Given the description of an element on the screen output the (x, y) to click on. 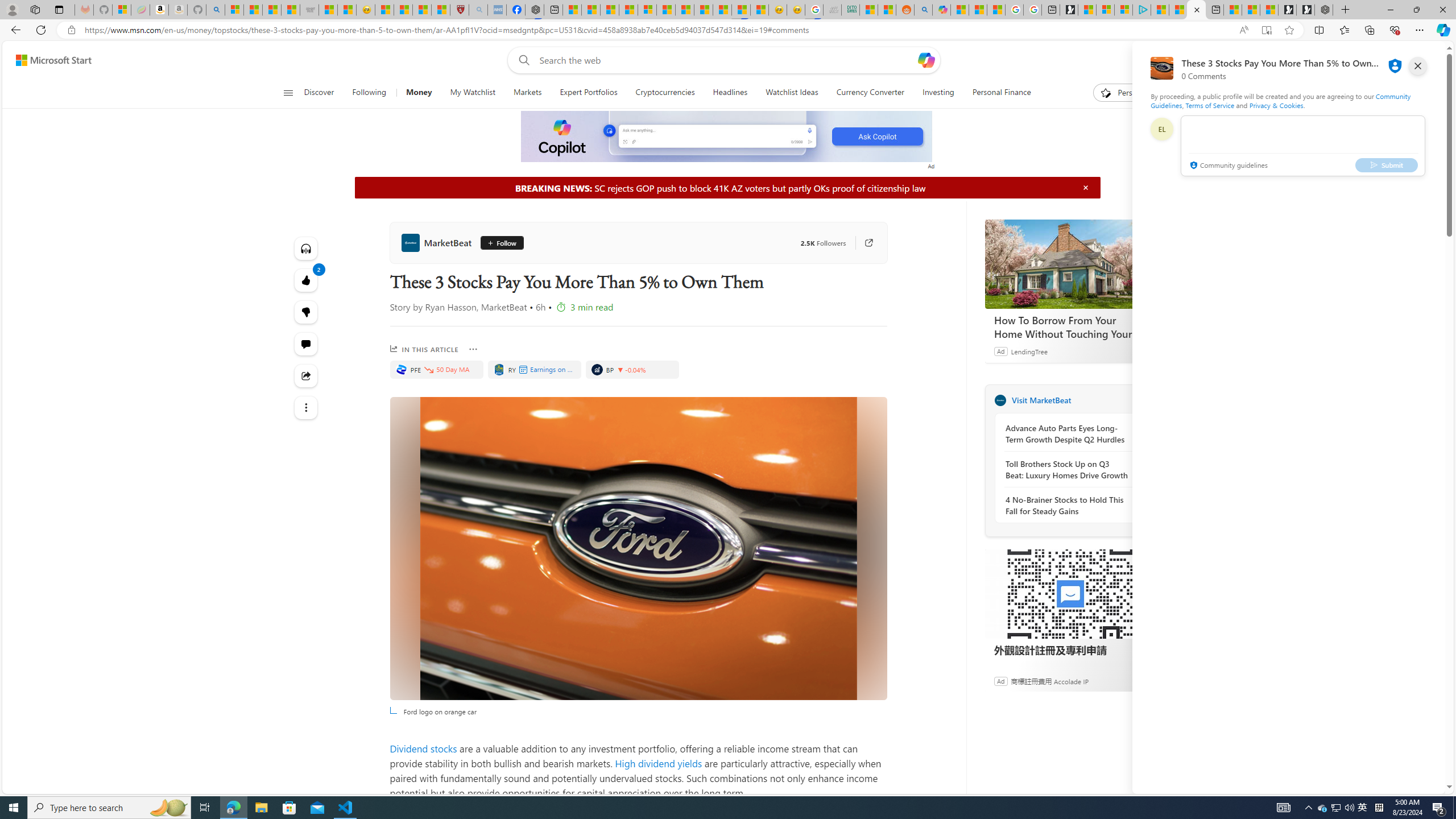
Recipes - MSN (383, 9)
12 Popular Science Lies that Must be Corrected (440, 9)
Privacy & Cookies (1276, 104)
Skip to content (49, 59)
How To Borrow From Your Home Without Touching Your Mortgage (1070, 263)
Markets (527, 92)
Nordace - Nordace Siena Is Not An Ordinary Backpack (1324, 9)
Ford logo on orange car (638, 548)
To get missing image descriptions, open the context menu. (726, 136)
